Given the description of an element on the screen output the (x, y) to click on. 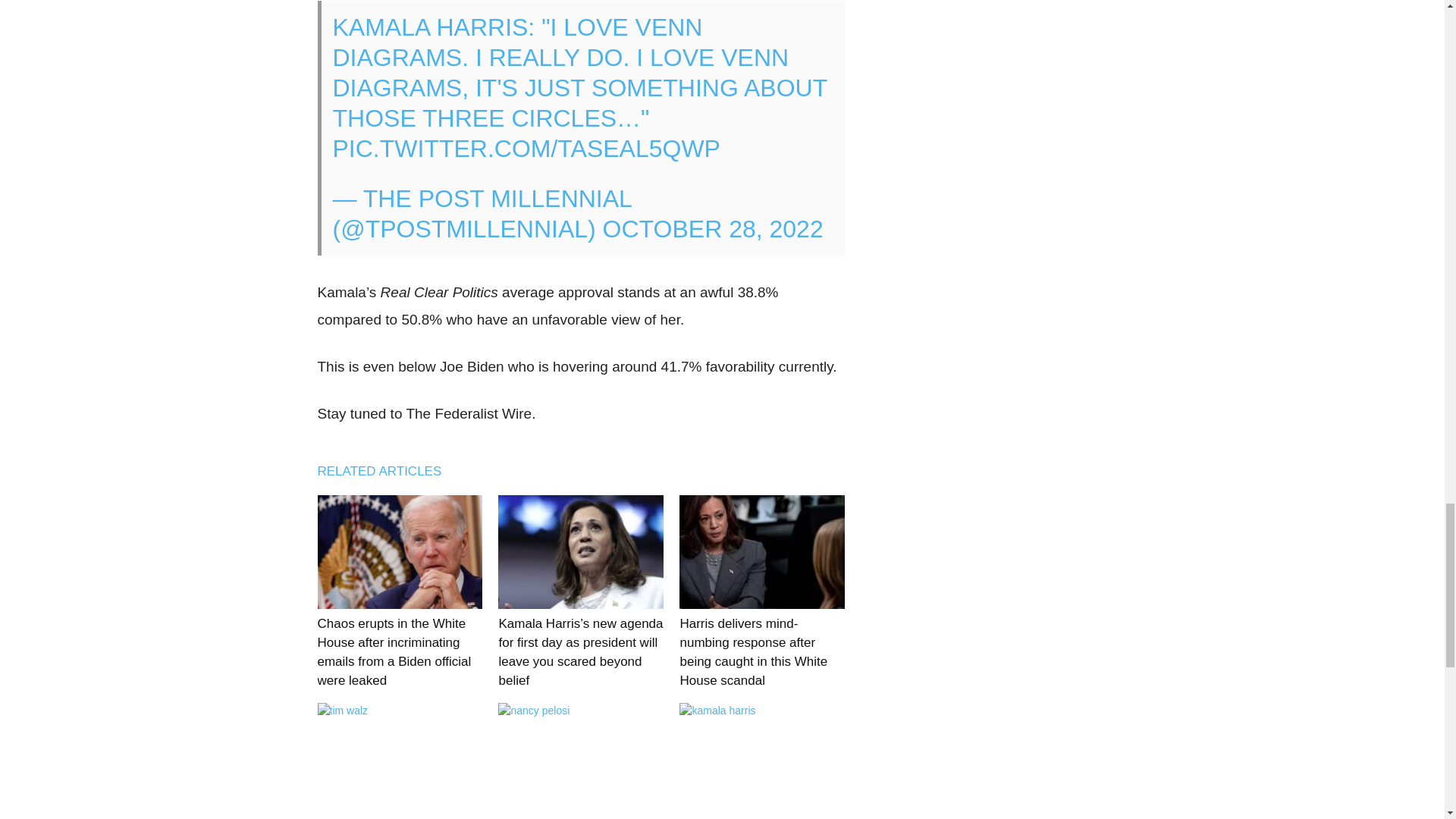
RELATED ARTICLES (387, 471)
OCTOBER 28, 2022 (713, 228)
Tim Walz falls flat on his face during abysmal CNN interview (399, 759)
